Given the description of an element on the screen output the (x, y) to click on. 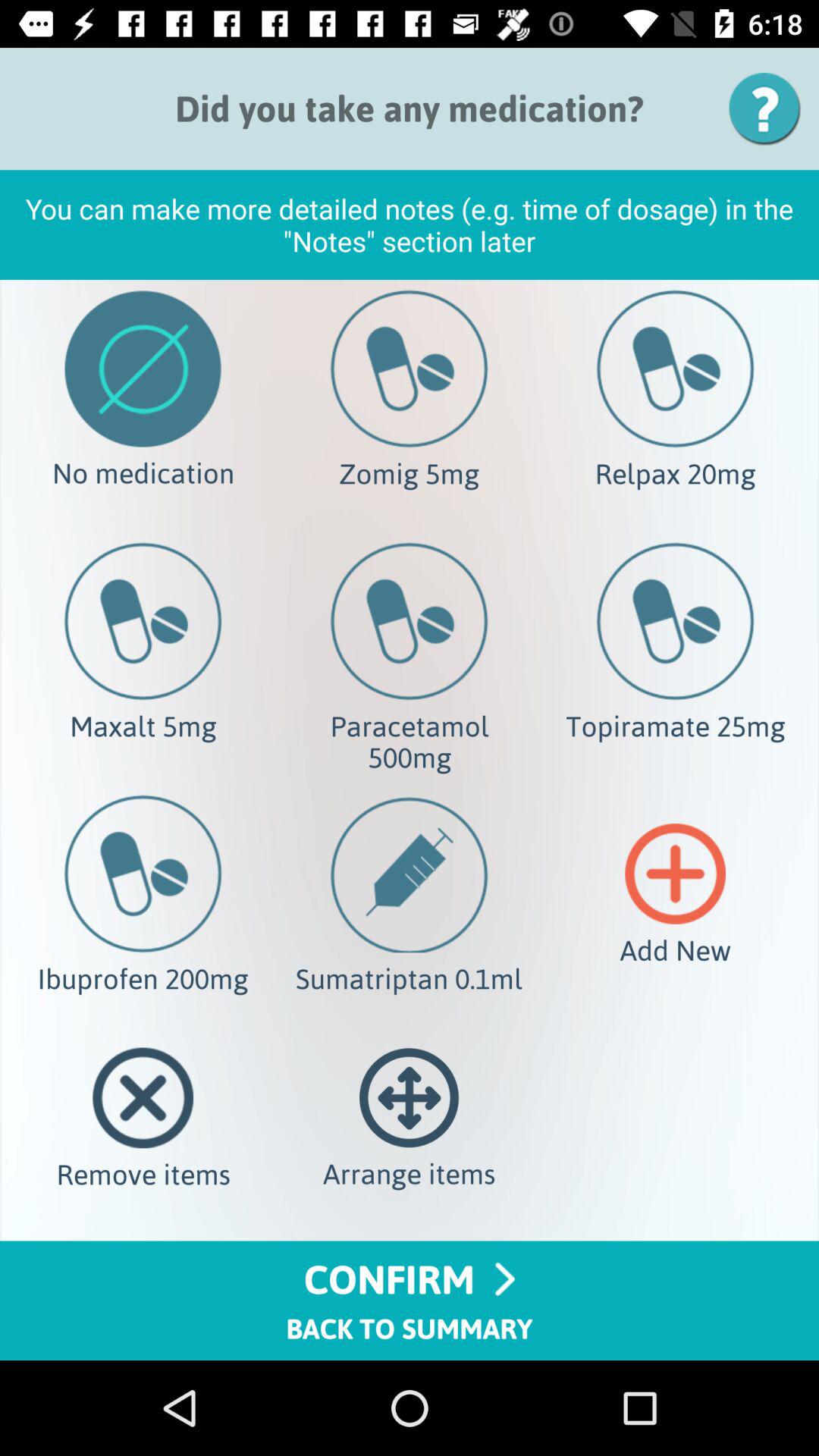
choose icon next to did you take item (769, 108)
